Given the description of an element on the screen output the (x, y) to click on. 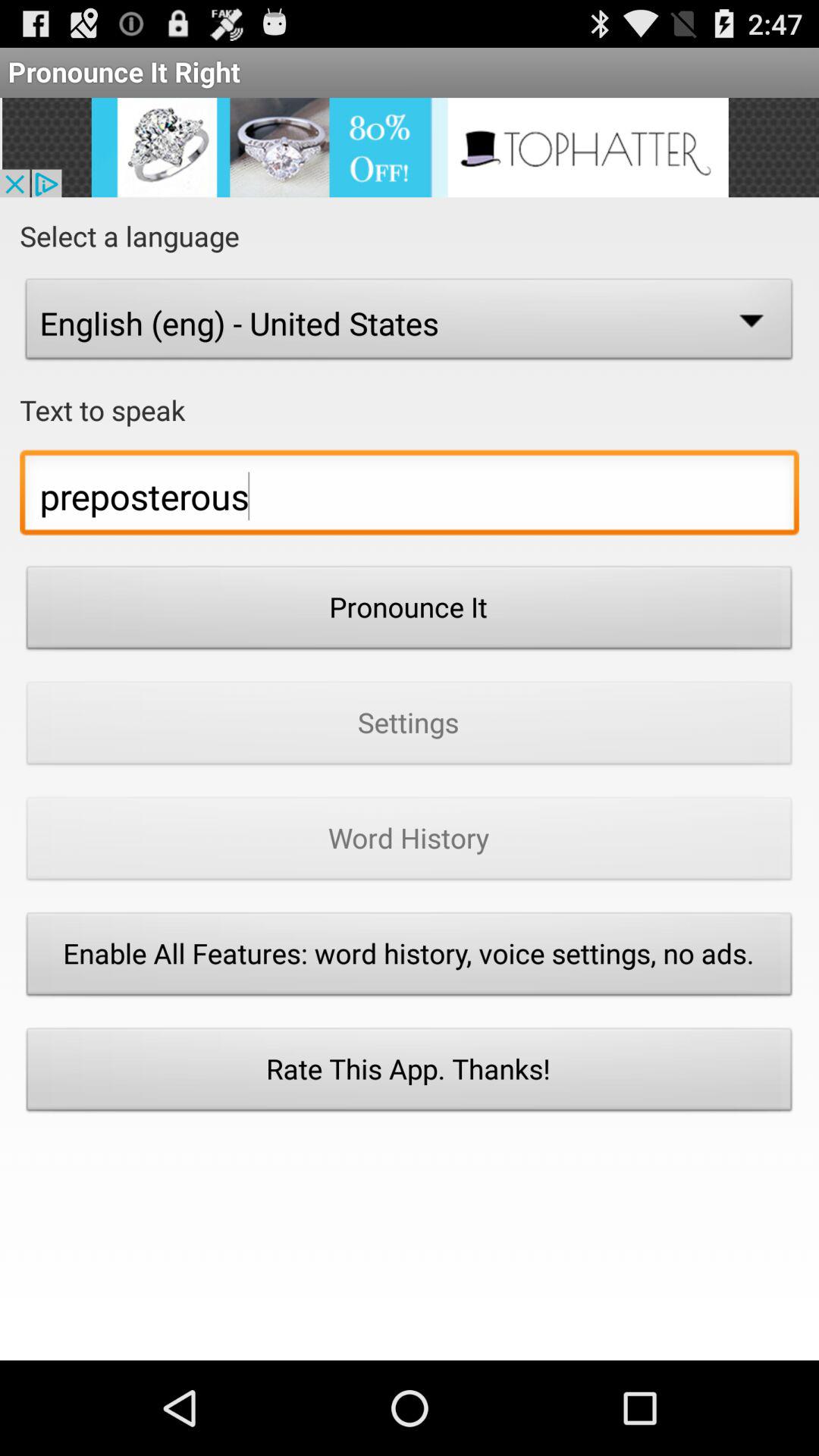
advertisement (409, 147)
